Given the description of an element on the screen output the (x, y) to click on. 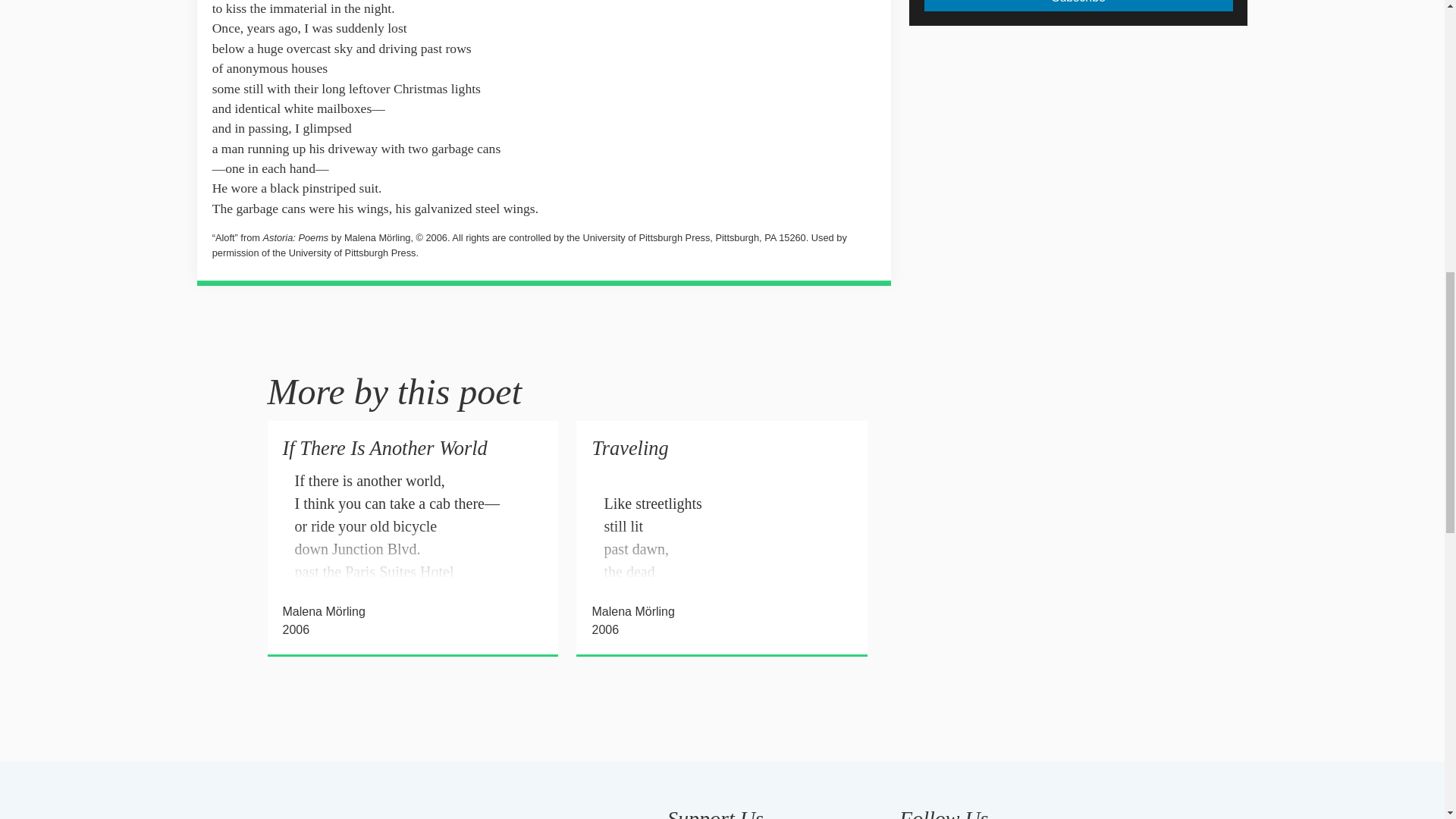
Subscribe (1078, 5)
Subscribe (1078, 5)
